Given the description of an element on the screen output the (x, y) to click on. 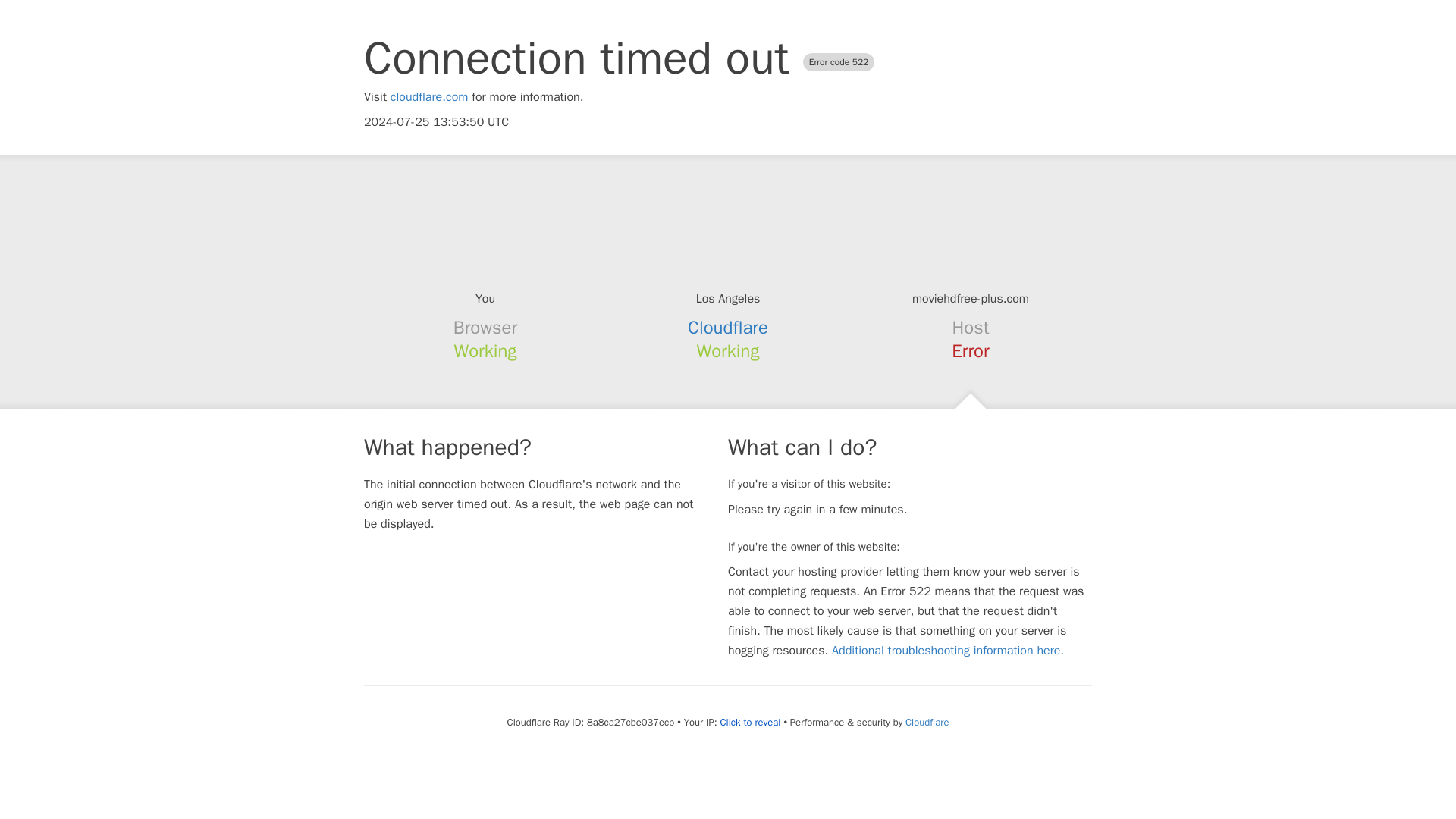
Cloudflare (727, 327)
Additional troubleshooting information here. (947, 650)
cloudflare.com (429, 96)
Click to reveal (750, 722)
Cloudflare (927, 721)
